Given the description of an element on the screen output the (x, y) to click on. 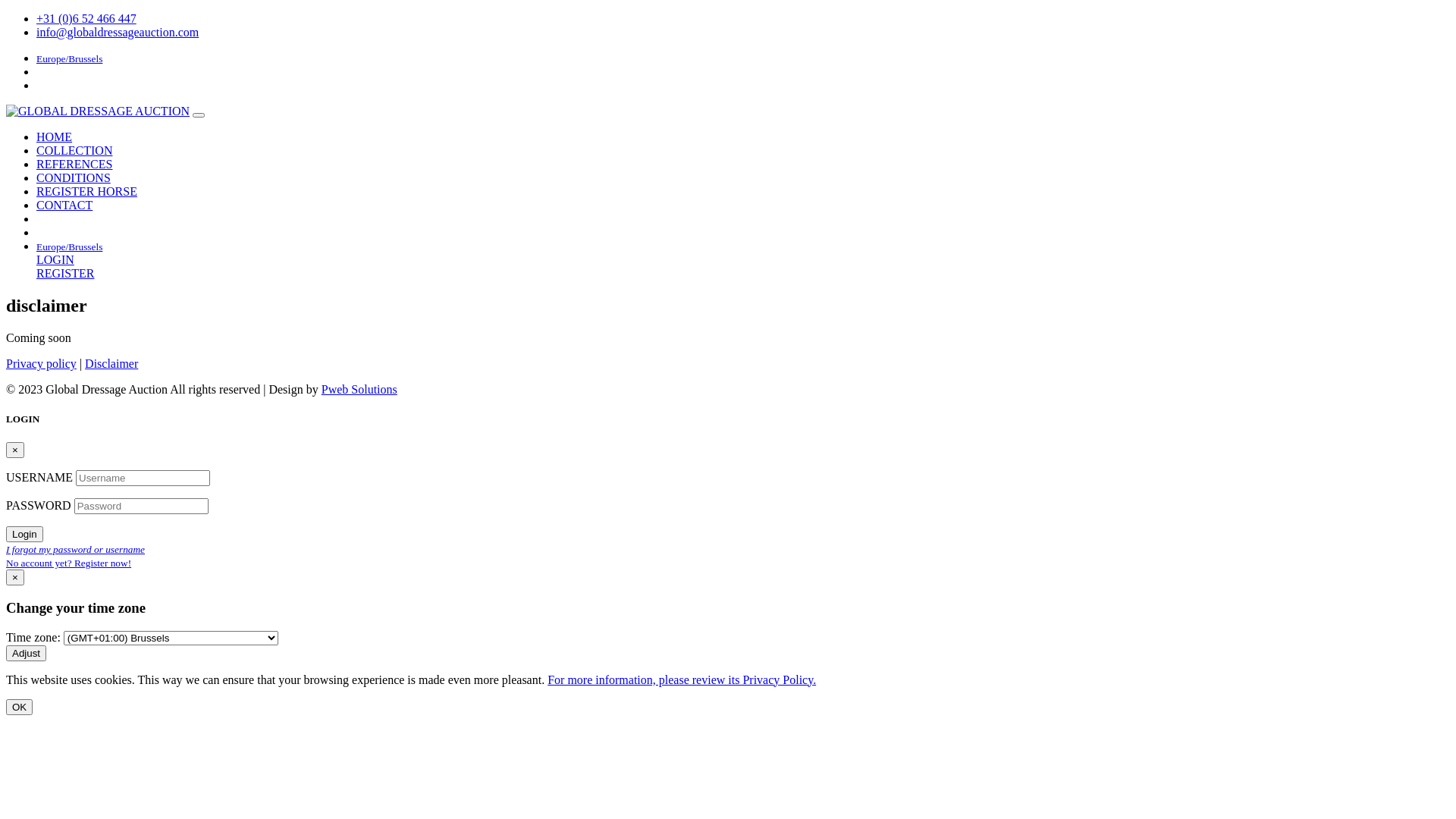
REFERENCES Element type: text (74, 163)
LOGIN Element type: text (55, 259)
Europe/Brussels Element type: text (69, 57)
REGISTER HORSE Element type: text (86, 191)
Privacy policy Element type: text (41, 363)
Login Element type: text (24, 534)
HOME Element type: text (54, 136)
Europe/Brussels Element type: text (69, 245)
CONDITIONS Element type: text (73, 177)
Disclaimer Element type: text (111, 363)
+31 (0)6 52 466 447 Element type: text (86, 18)
REGISTER Element type: text (65, 272)
Pweb Solutions Element type: text (359, 388)
No account yet? Register now! Element type: text (68, 561)
COLLECTION Element type: text (74, 150)
Adjust Element type: text (26, 653)
info@globaldressageauction.com Element type: text (117, 31)
CONTACT Element type: text (64, 204)
I forgot my password or username Element type: text (75, 548)
For more information, please review its Privacy Policy. Element type: text (681, 679)
OK Element type: text (19, 707)
